Given the description of an element on the screen output the (x, y) to click on. 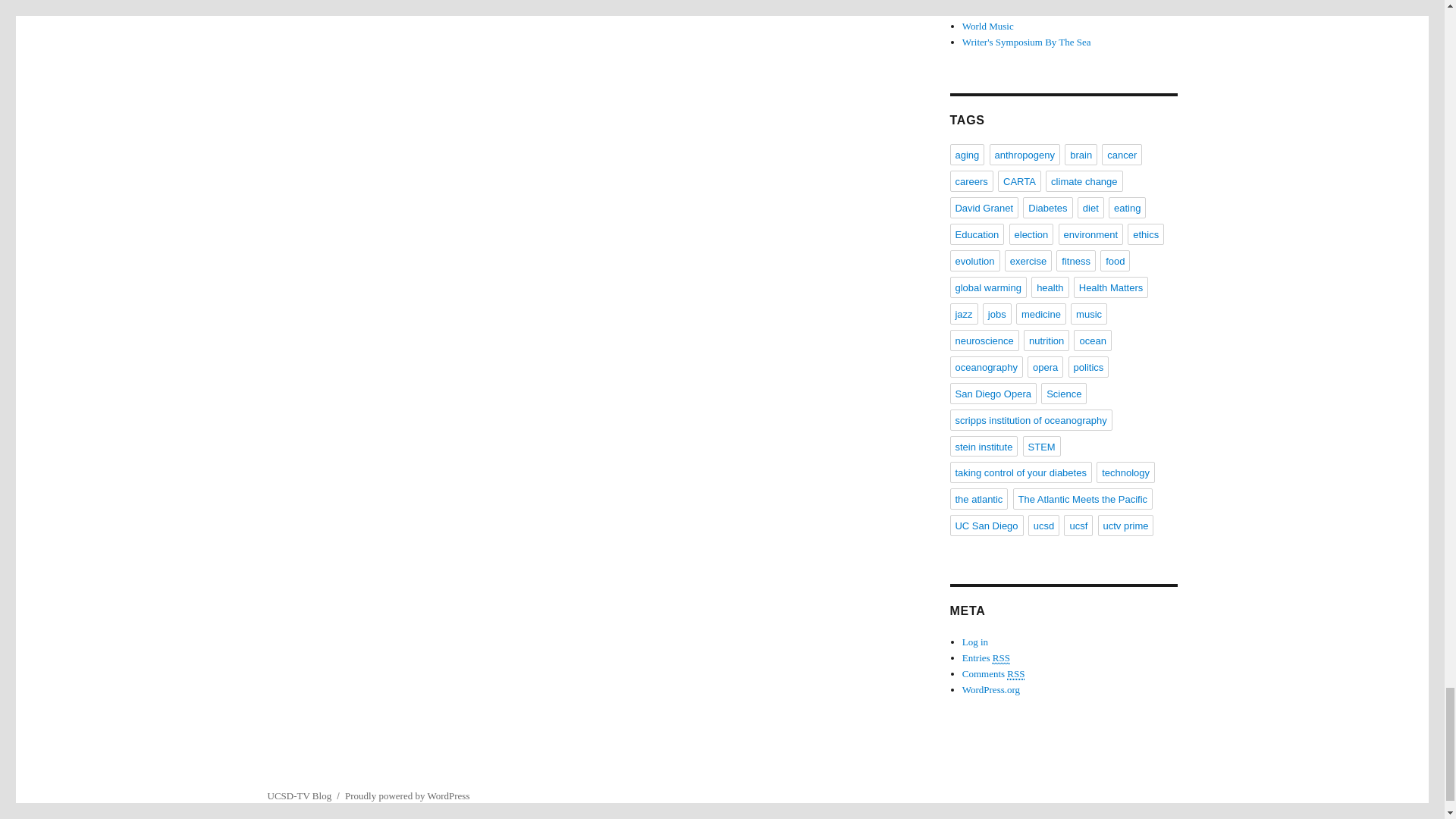
Really Simple Syndication (1016, 674)
Really Simple Syndication (1001, 657)
